Given the description of an element on the screen output the (x, y) to click on. 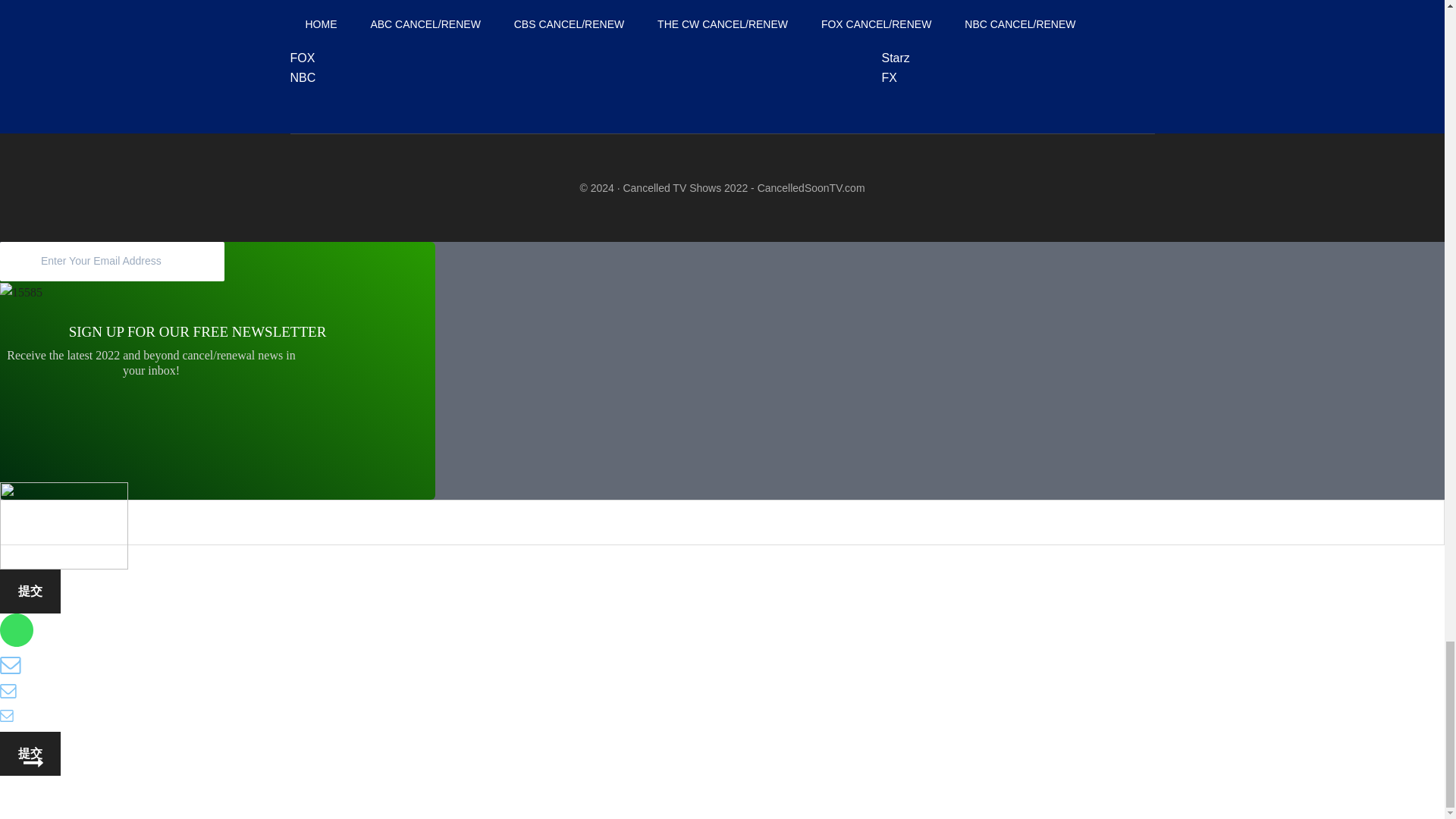
Starz (894, 57)
NBC (302, 77)
FX (888, 77)
Cancelled TV Shows 2022 - CancelledSoonTV.com (743, 187)
HBO (893, 2)
ABC (301, 2)
CBS (301, 18)
FOX (301, 57)
AMC (894, 18)
The CW (311, 38)
Showtime (907, 38)
